Given the description of an element on the screen output the (x, y) to click on. 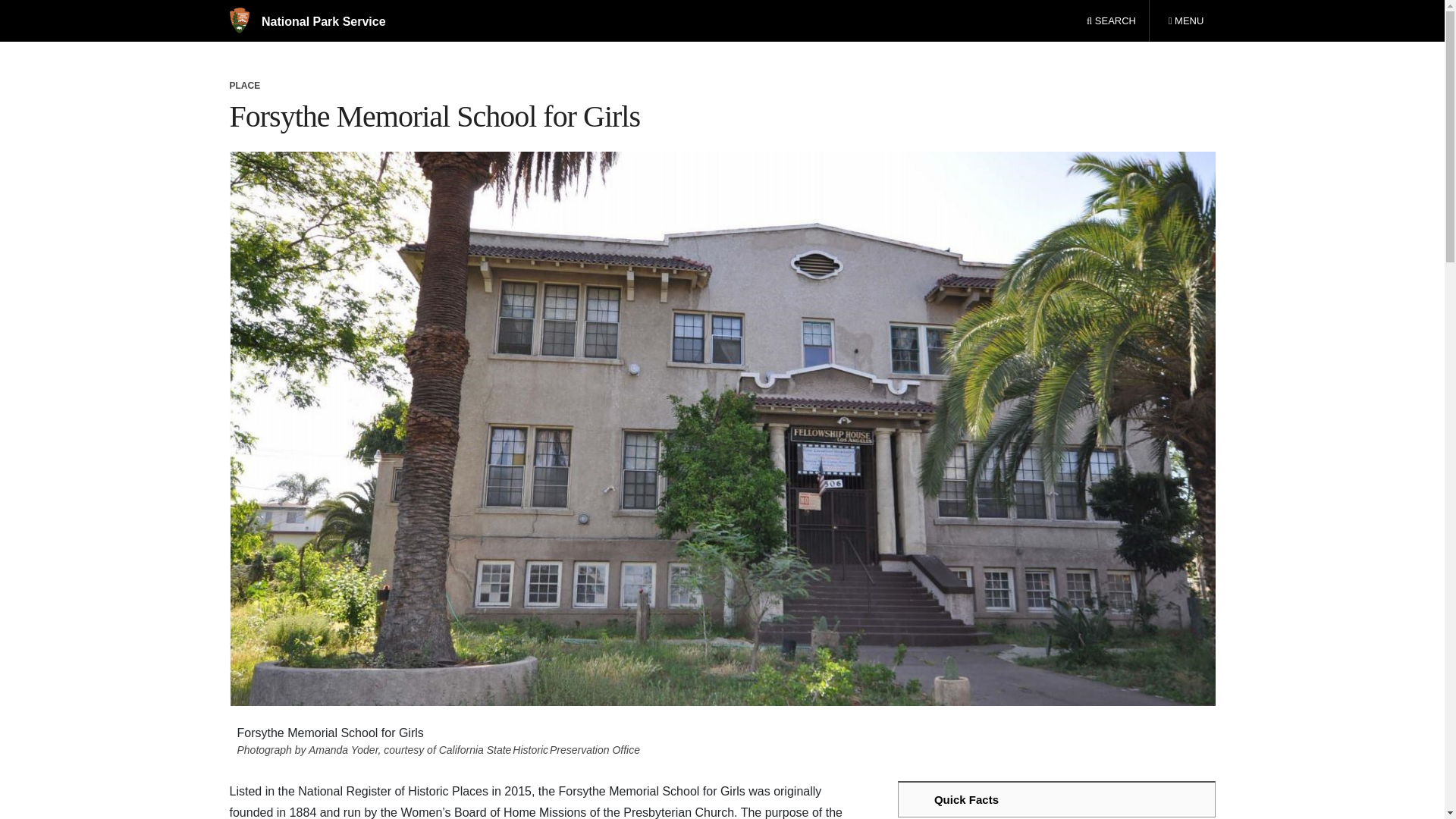
SEARCH (1111, 20)
National Park Service (307, 20)
